Given the description of an element on the screen output the (x, y) to click on. 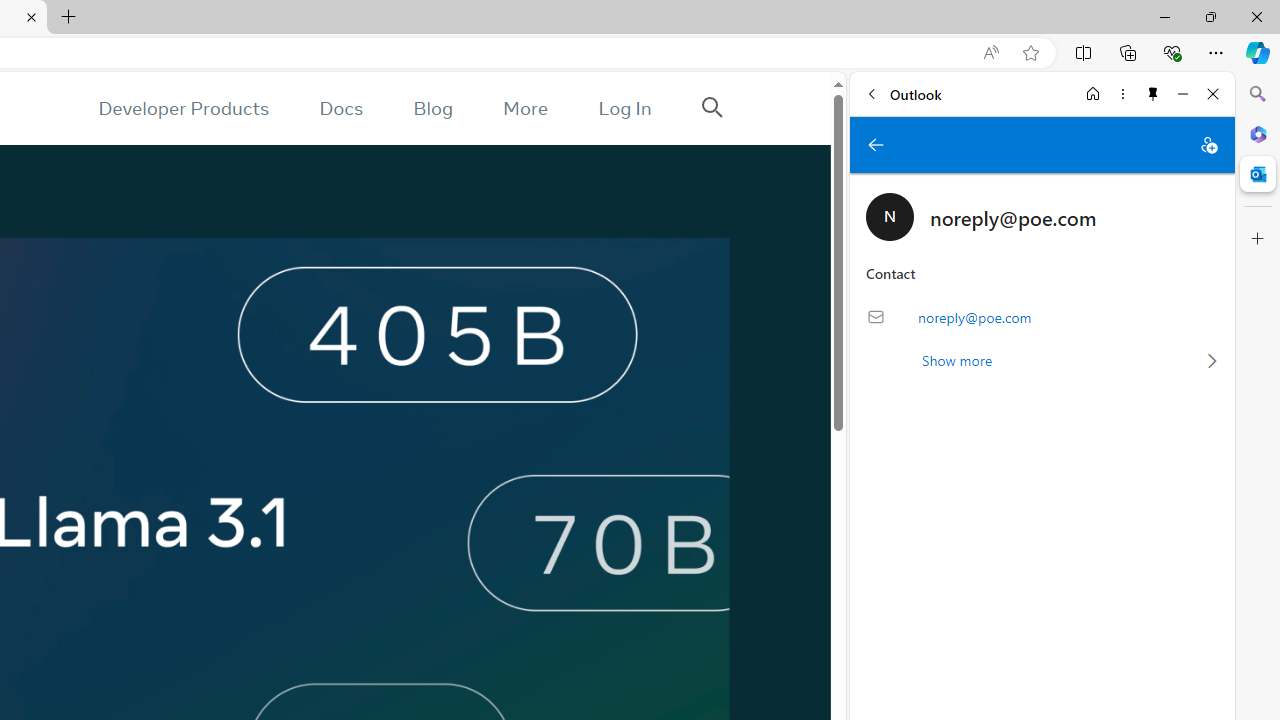
Docs (341, 108)
Outlook (1258, 174)
Unpin side pane (1153, 93)
Log In (625, 108)
Add to contacts (1208, 144)
Customize (1258, 239)
Email: noreply@poe.com (1042, 317)
Docs (341, 108)
